Given the description of an element on the screen output the (x, y) to click on. 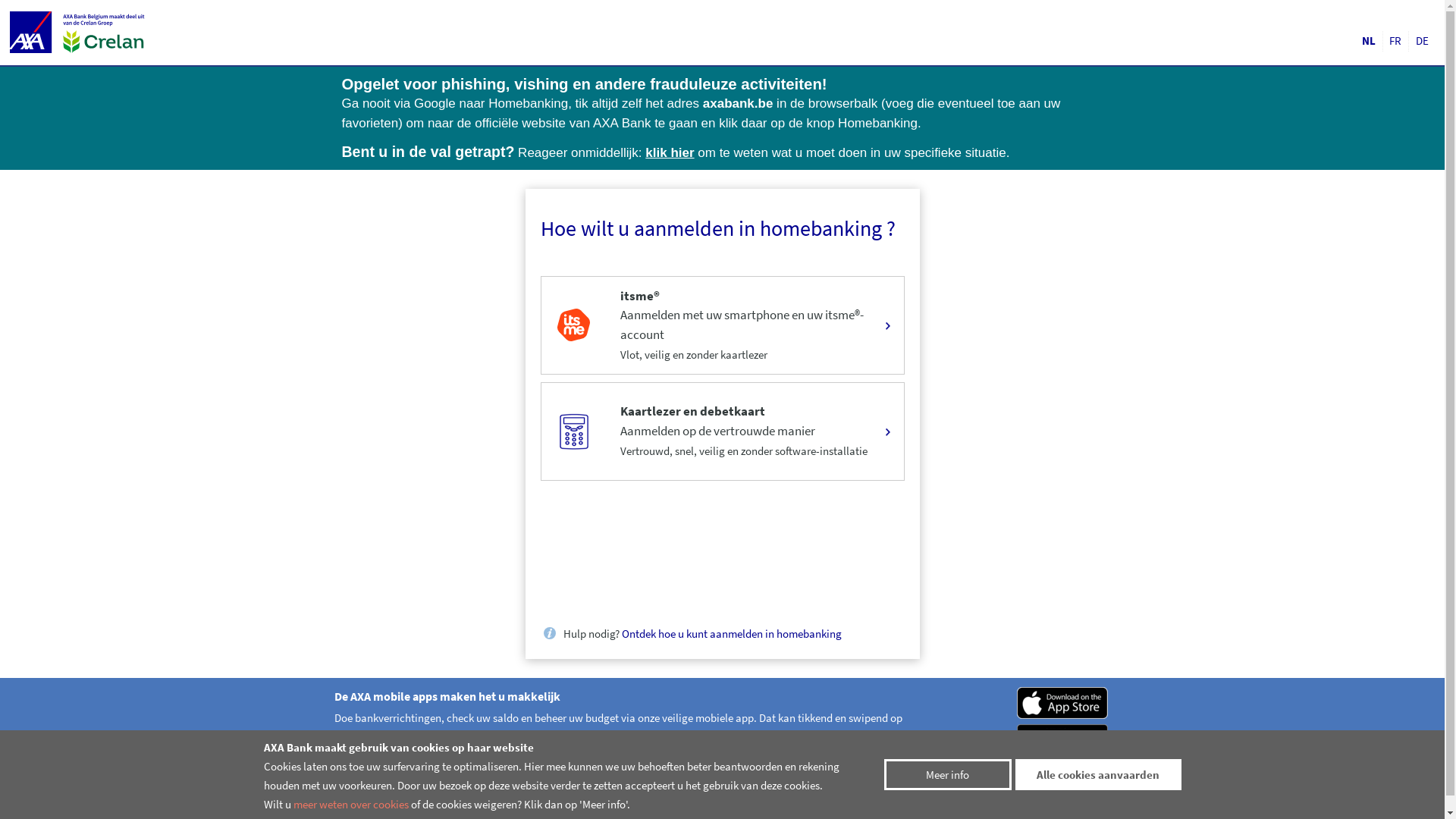
Ontdek hoe u kunt aanmelden in homebanking Element type: text (731, 633)
DE Element type: text (1421, 41)
NL Element type: text (1368, 41)
Meer info Element type: text (947, 774)
AXA Homebanking Element type: text (33, 32)
Lees meer Element type: text (367, 779)
Alle cookies aanvaarden Element type: text (1098, 774)
G Element type: text (1063, 738)
A Element type: text (1063, 701)
FR Element type: text (1395, 41)
meer weten over cookies Element type: text (349, 804)
